Given the description of an element on the screen output the (x, y) to click on. 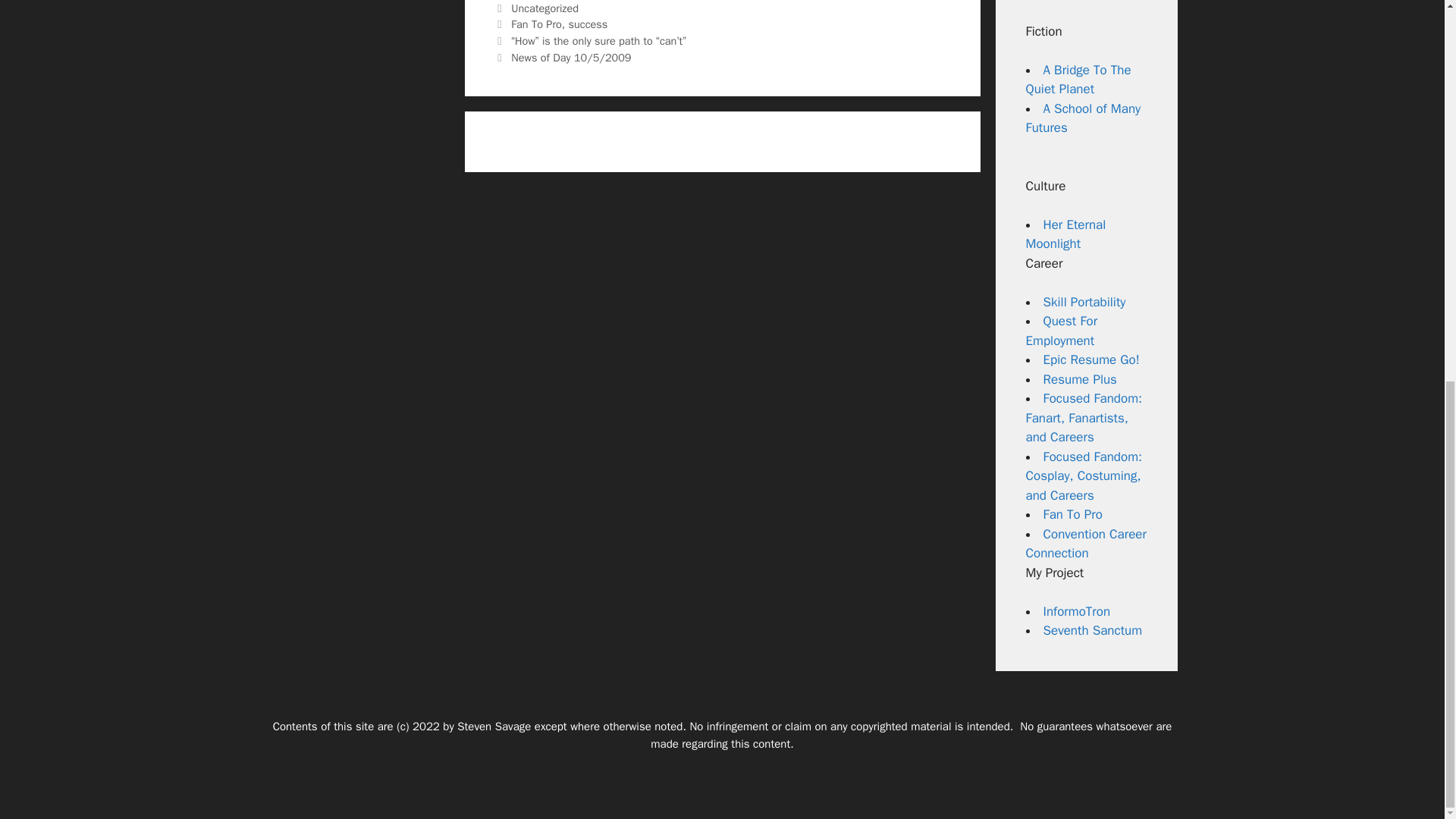
A Bridge To The Quiet Planet (1078, 79)
Her Eternal Moonlight (1065, 234)
success (587, 24)
A School of Many Futures (1082, 118)
Uncategorized (544, 8)
Fan To Pro (536, 24)
Skill Portability (1084, 302)
